Given the description of an element on the screen output the (x, y) to click on. 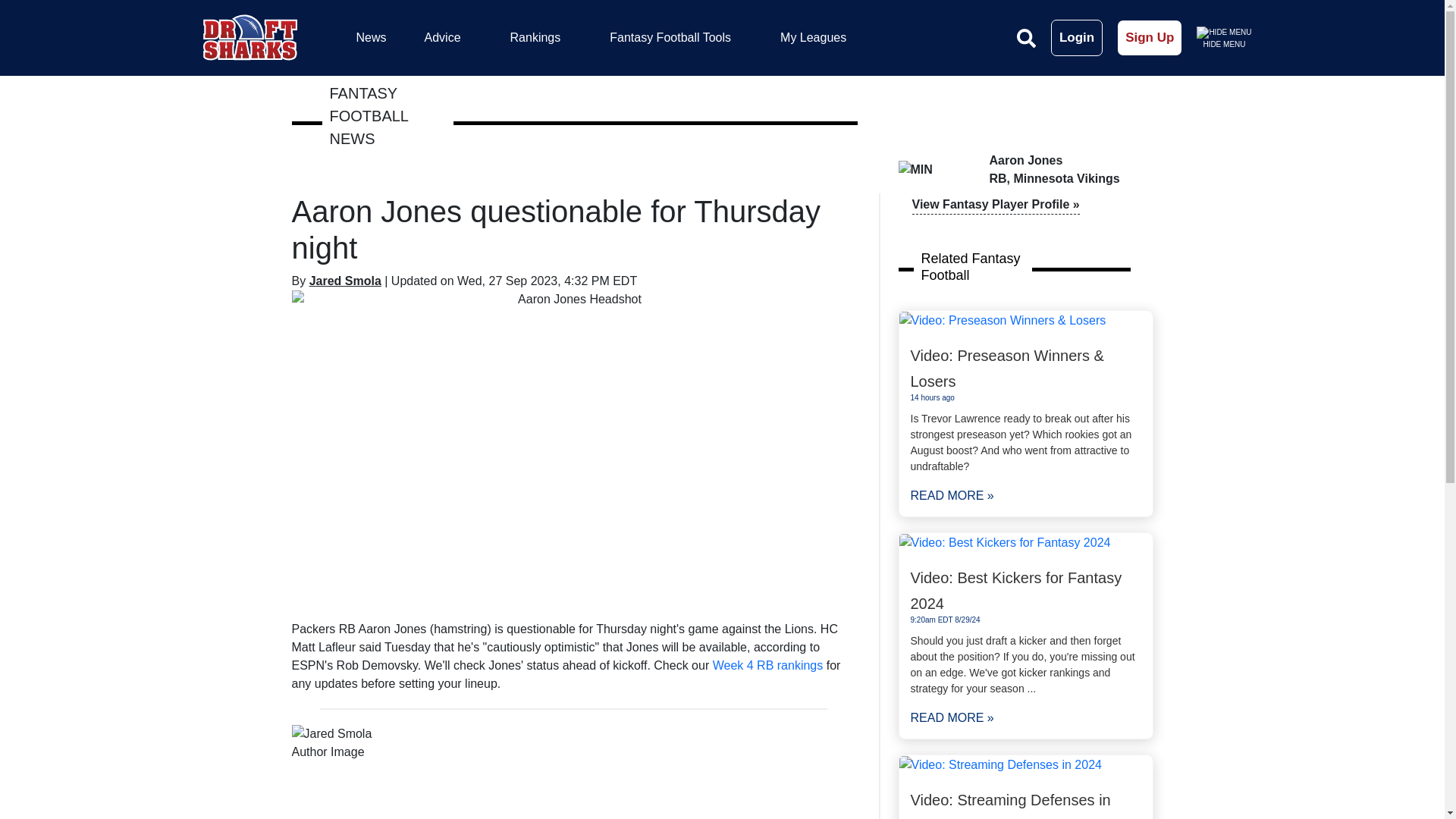
Login (1076, 37)
Sign Up (1149, 37)
HIDE MENU (1223, 37)
